Given the description of an element on the screen output the (x, y) to click on. 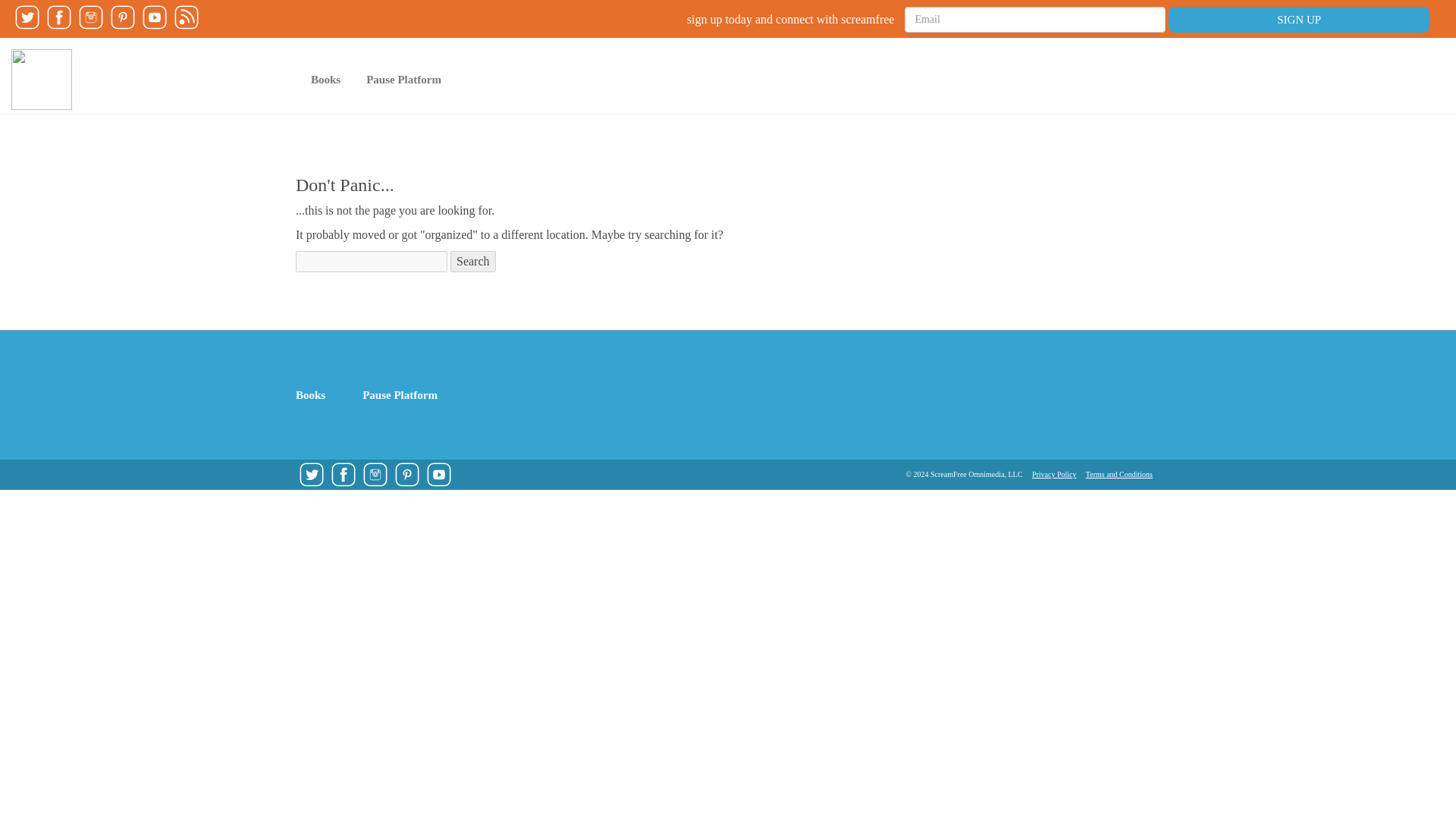
Pause Platform (405, 394)
Privacy Policy (1054, 474)
Pause Platform (403, 79)
SIGN UP (1299, 19)
Search (472, 260)
Search (472, 260)
Terms and Conditions (1119, 474)
Pause Platform (403, 79)
Books (325, 79)
Books (325, 79)
